Given the description of an element on the screen output the (x, y) to click on. 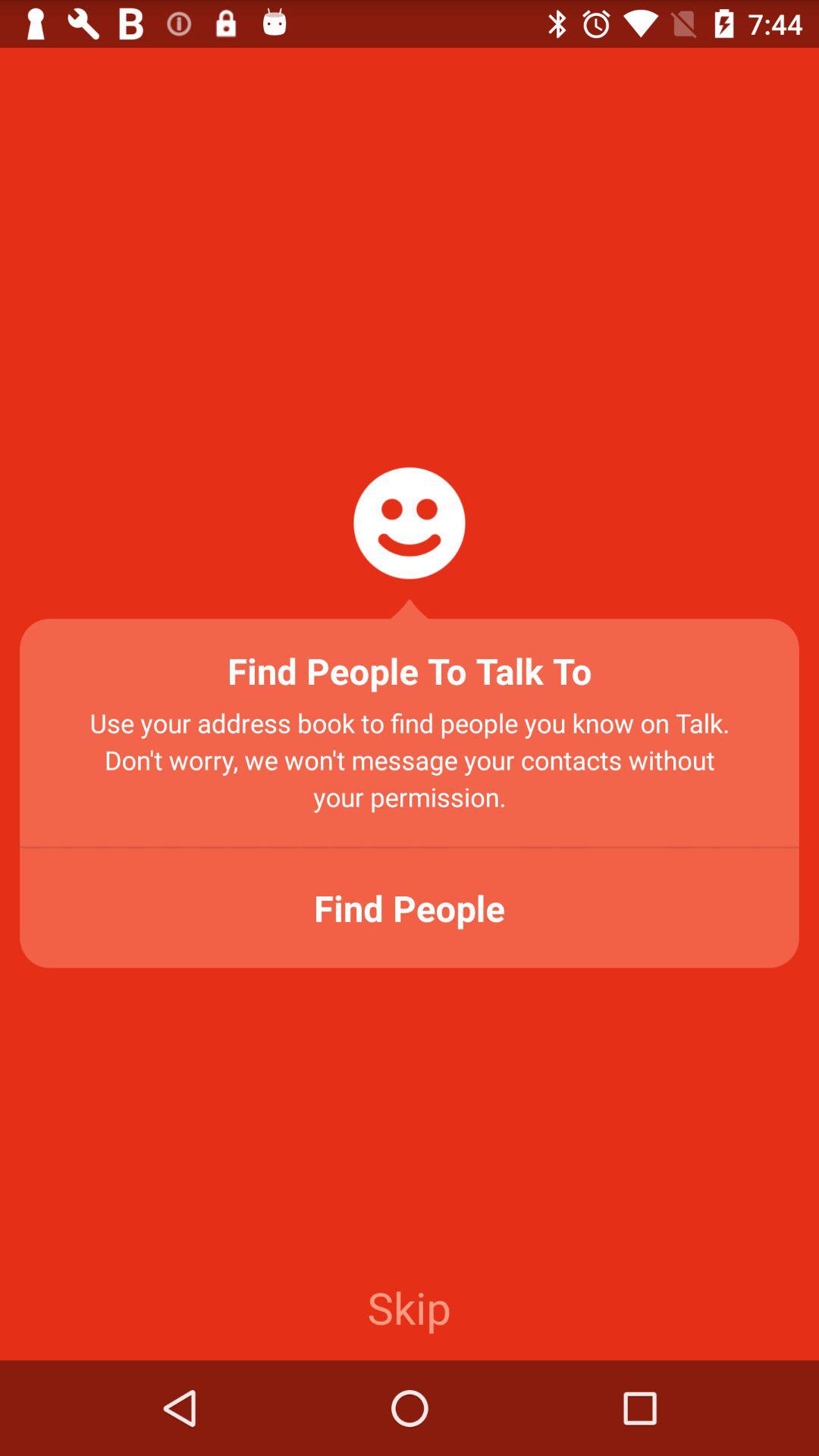
swipe to the skip icon (409, 1306)
